Given the description of an element on the screen output the (x, y) to click on. 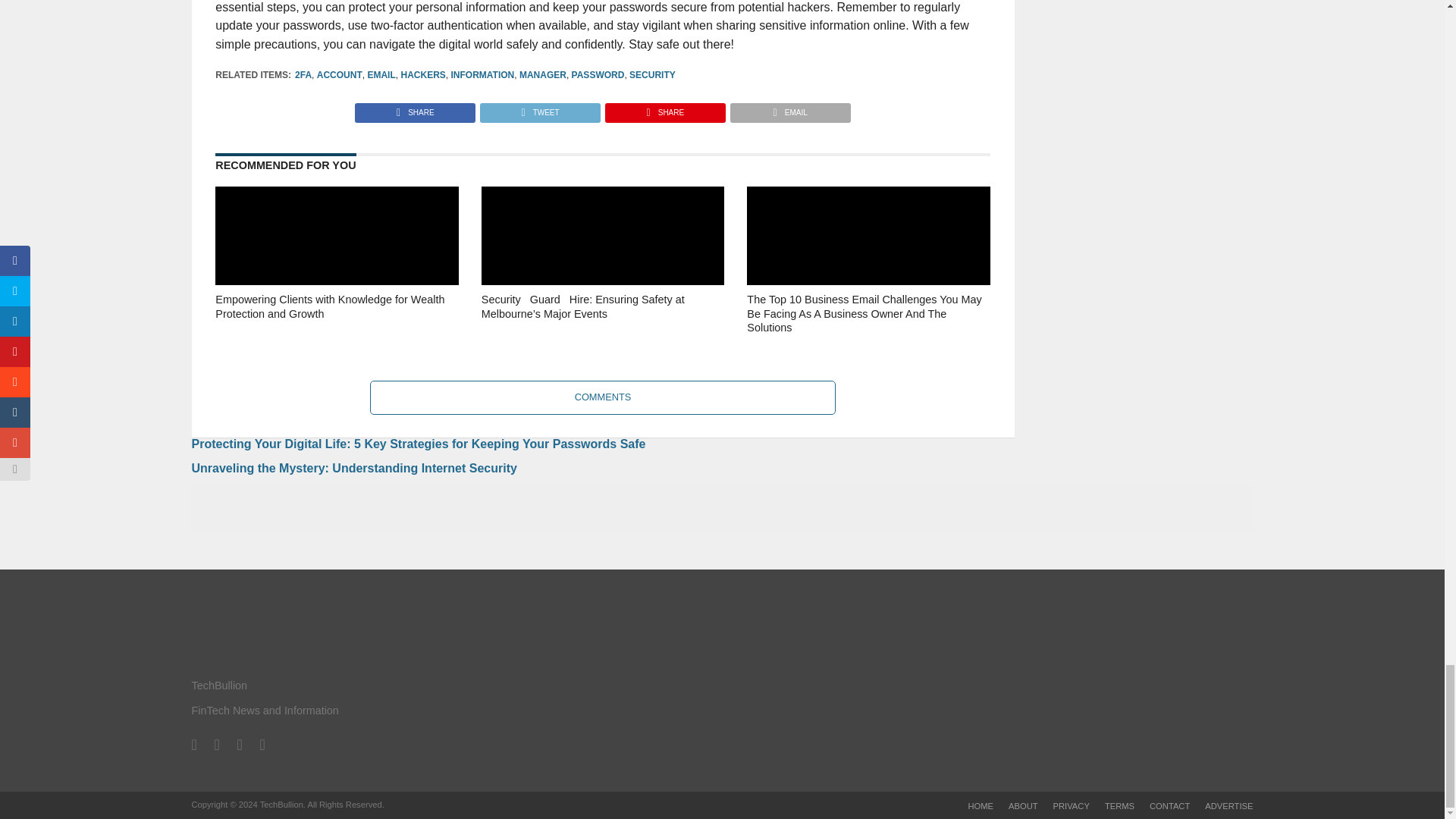
Tweet This Post (539, 108)
Pin This Post (664, 108)
Share on Facebook (415, 108)
